Given the description of an element on the screen output the (x, y) to click on. 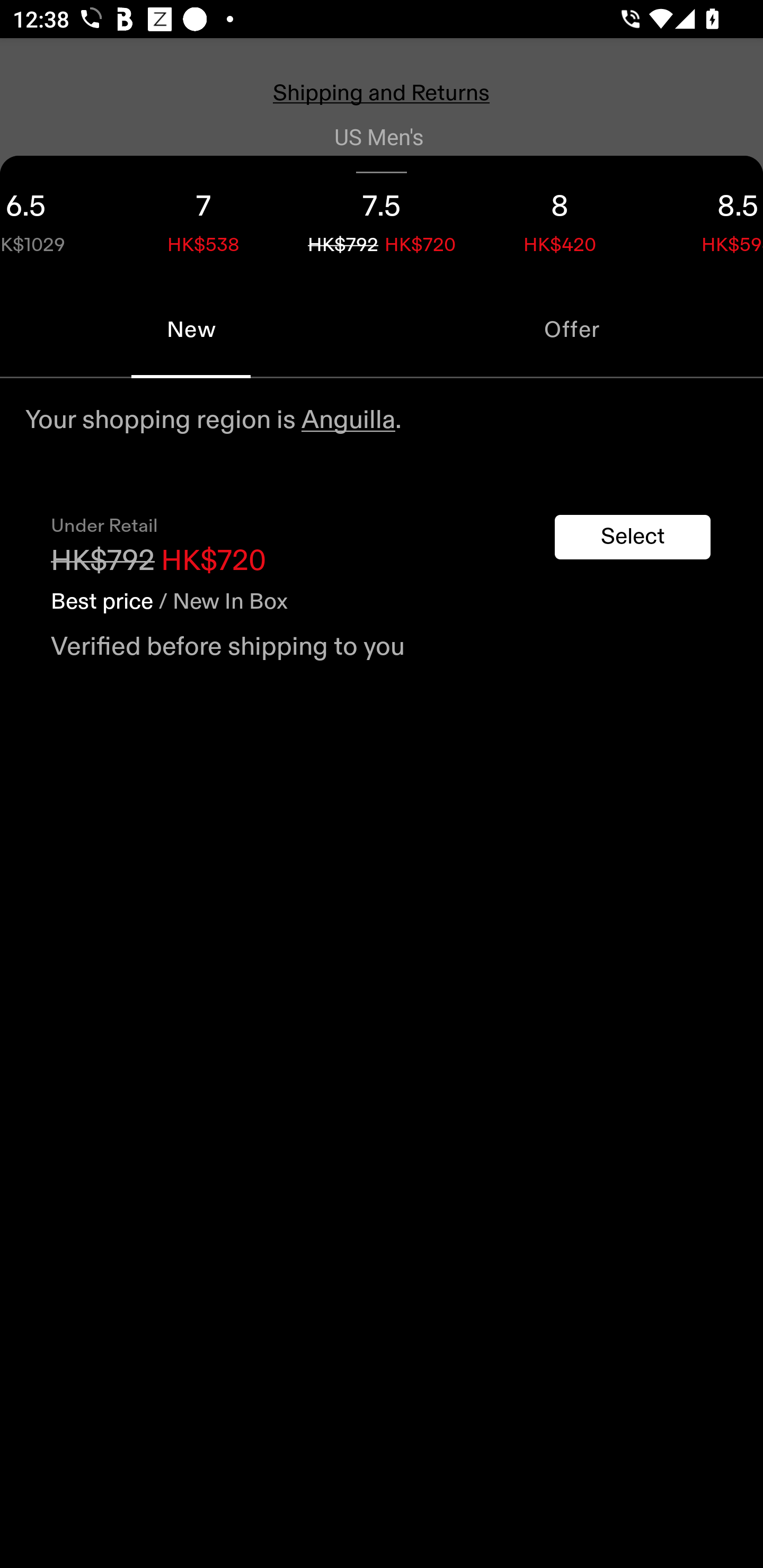
6.5 HK$1029 (57, 218)
7 HK$538 (203, 218)
7.5 HK$792 HK$720 (381, 218)
8 HK$420 (559, 218)
8.5 HK$594 (705, 218)
Offer (572, 329)
Select (632, 536)
